Given the description of an element on the screen output the (x, y) to click on. 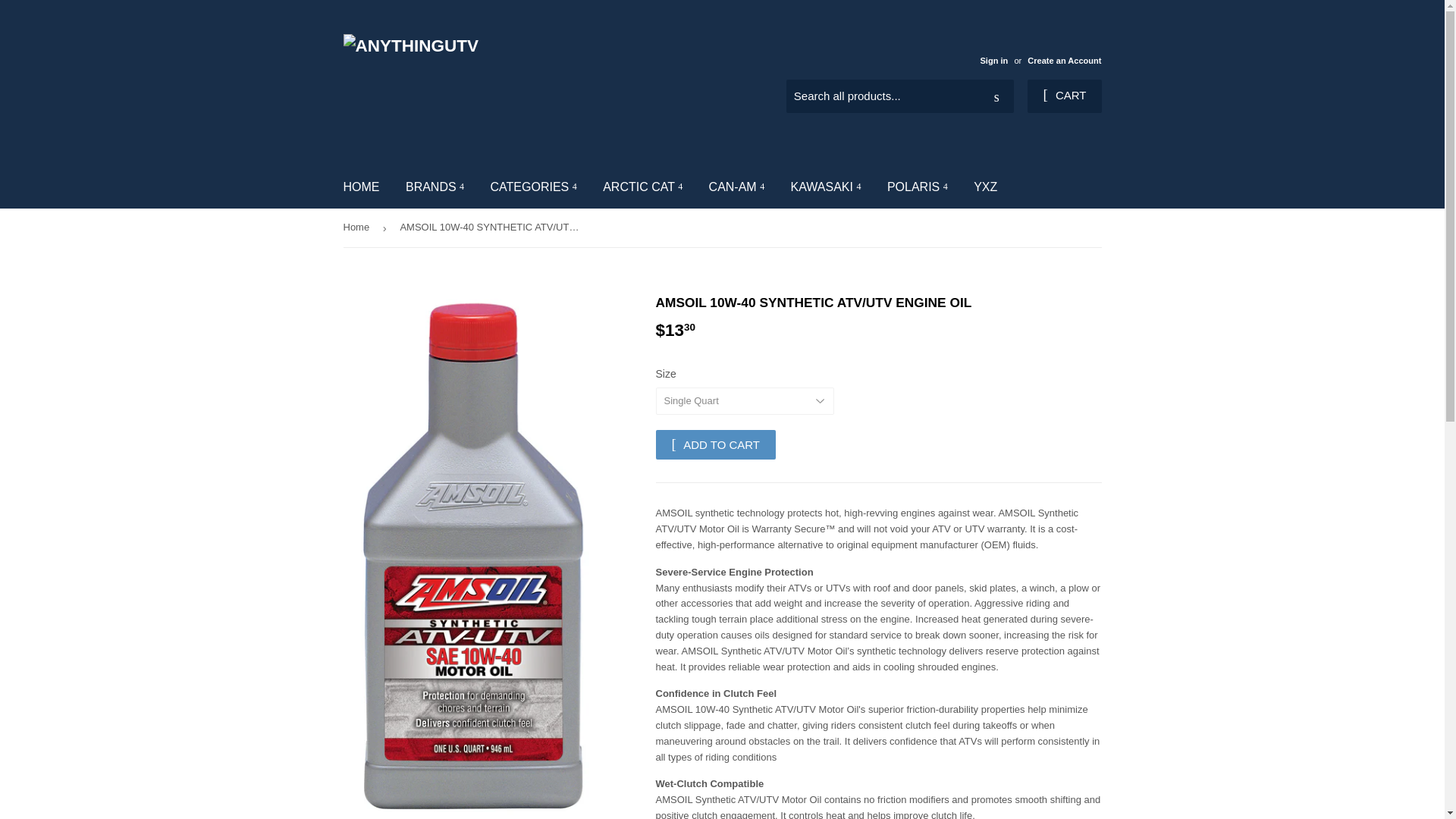
HOME (361, 187)
CART (1063, 96)
Sign in (993, 60)
BRANDS (435, 187)
Search (996, 97)
Create an Account (1063, 60)
